Given the description of an element on the screen output the (x, y) to click on. 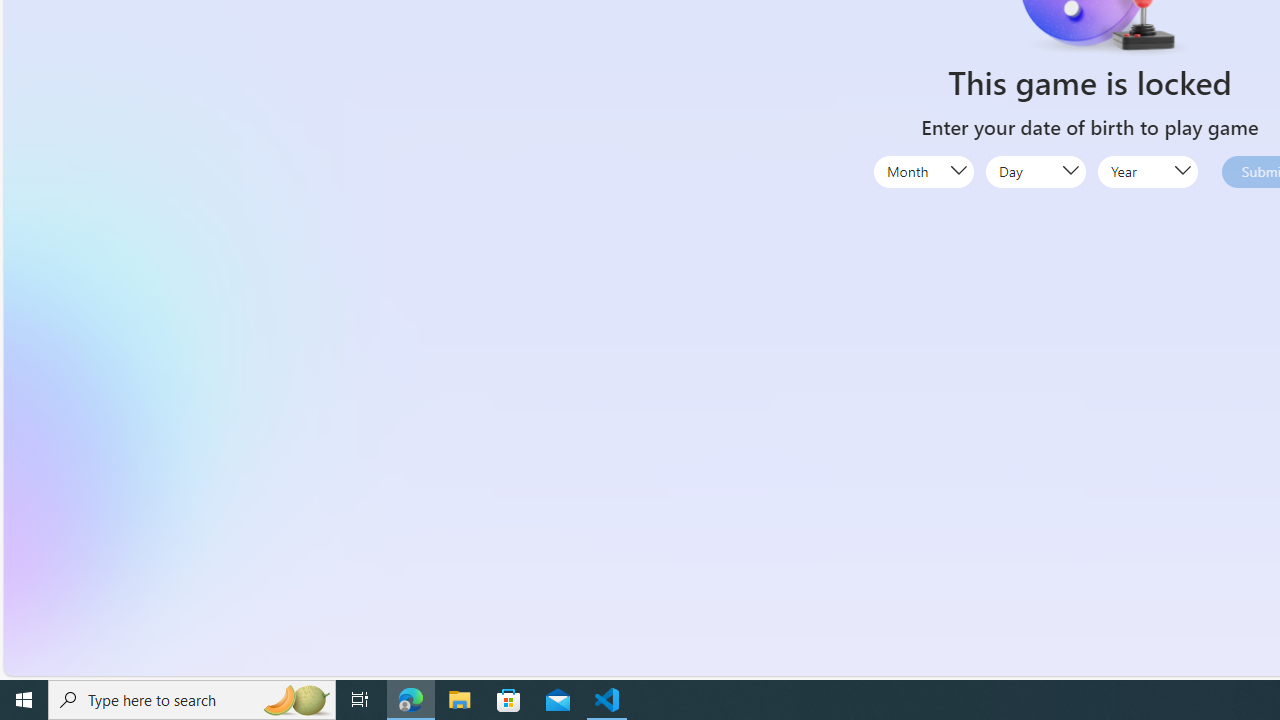
Day (1035, 170)
Month (924, 170)
Year (1148, 170)
